Given the description of an element on the screen output the (x, y) to click on. 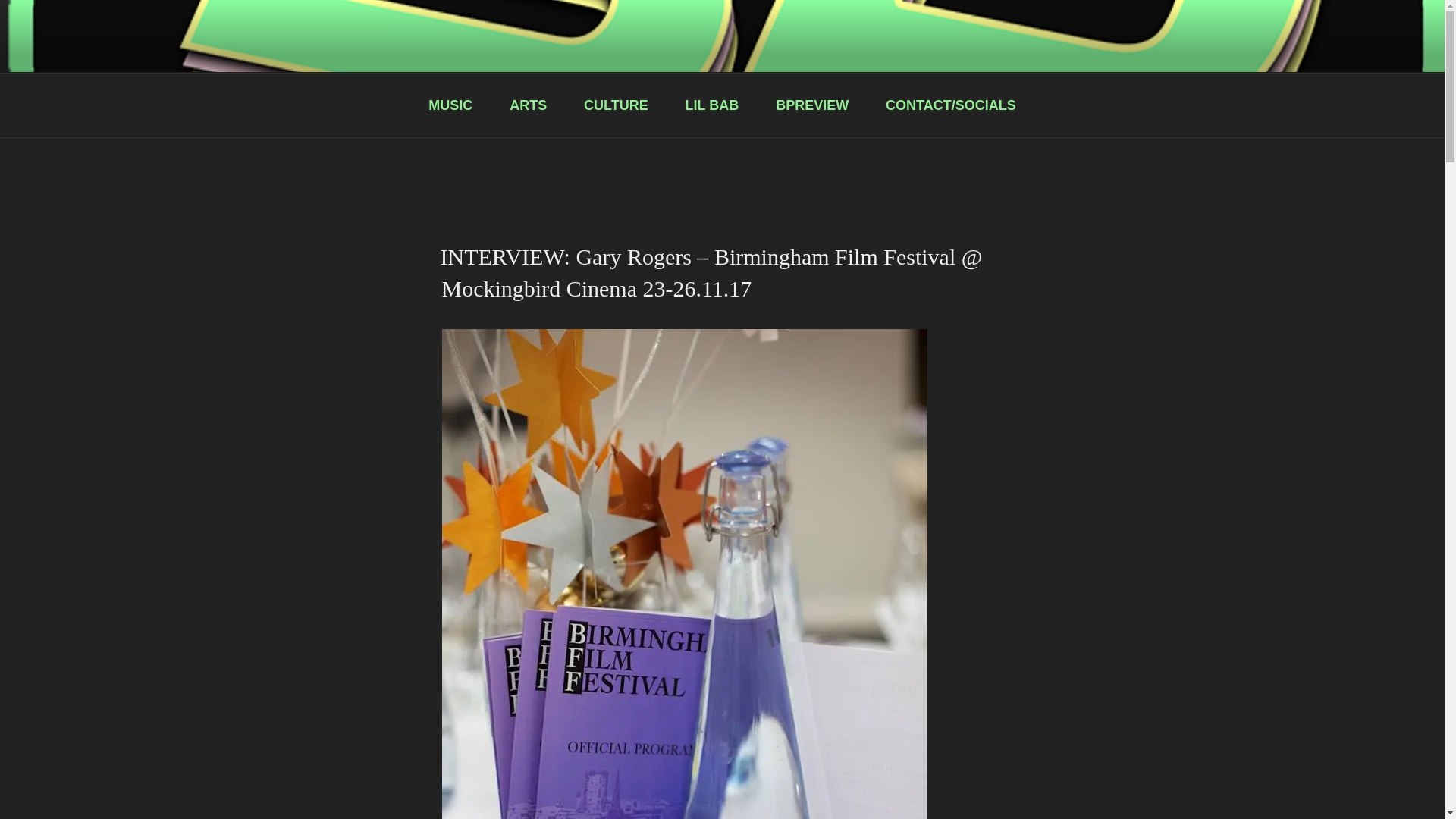
CULTURE (616, 105)
LIL BAB (711, 105)
MUSIC (450, 105)
BPREVIEW (812, 105)
ARTS (528, 105)
